Given the description of an element on the screen output the (x, y) to click on. 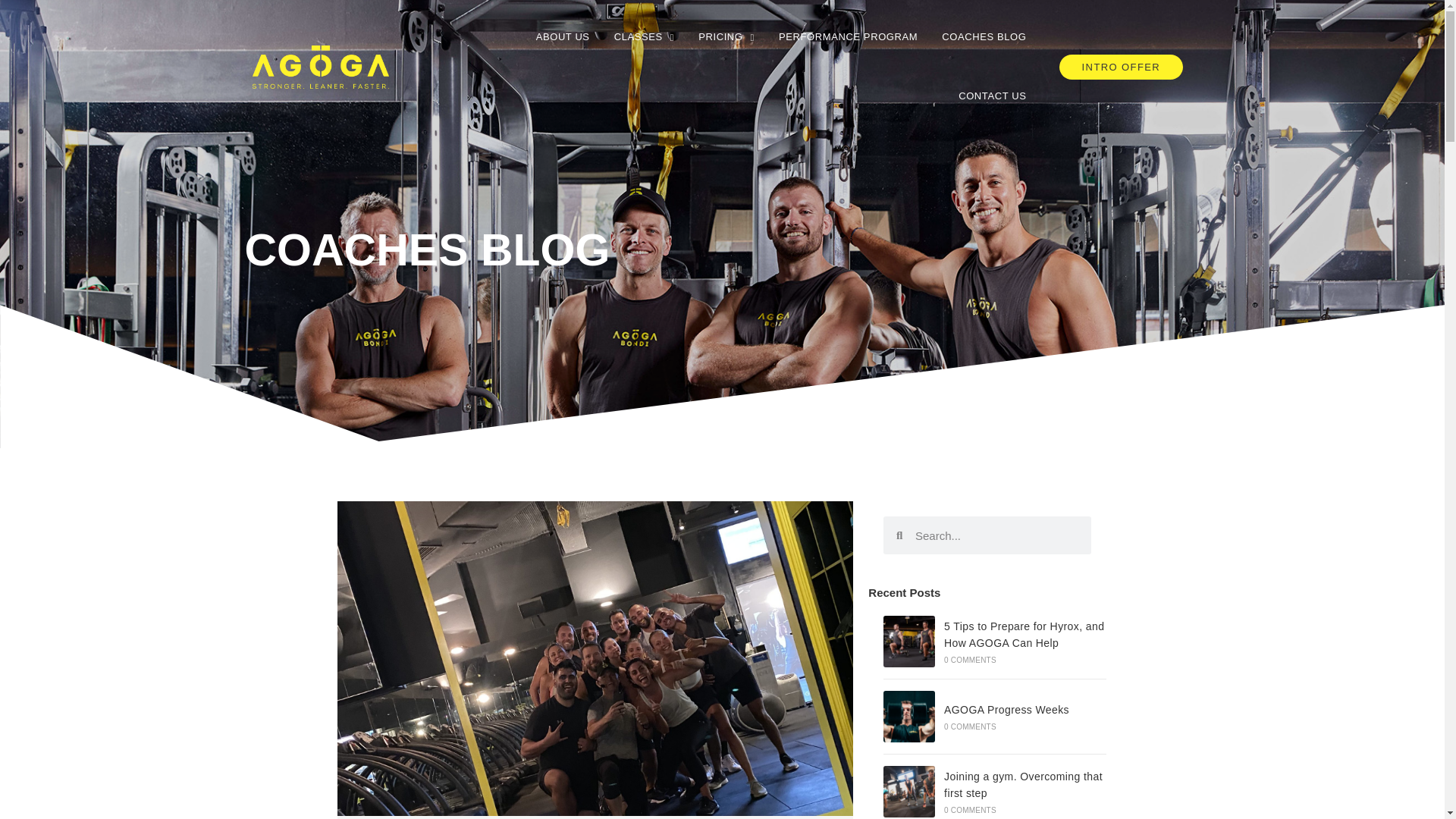
COACHES BLOG (984, 36)
Joining a gym. Overcoming that first step (908, 791)
CONTACT US (992, 96)
INTRO OFFER (1121, 66)
CLASSES (644, 36)
PRICING (726, 36)
ABOUT US (563, 36)
AGOGA Progress Weeks (908, 716)
PERFORMANCE PROGRAM (848, 36)
5 Tips to Prepare for Hyrox, and How AGOGA Can Help (908, 641)
